Given the description of an element on the screen output the (x, y) to click on. 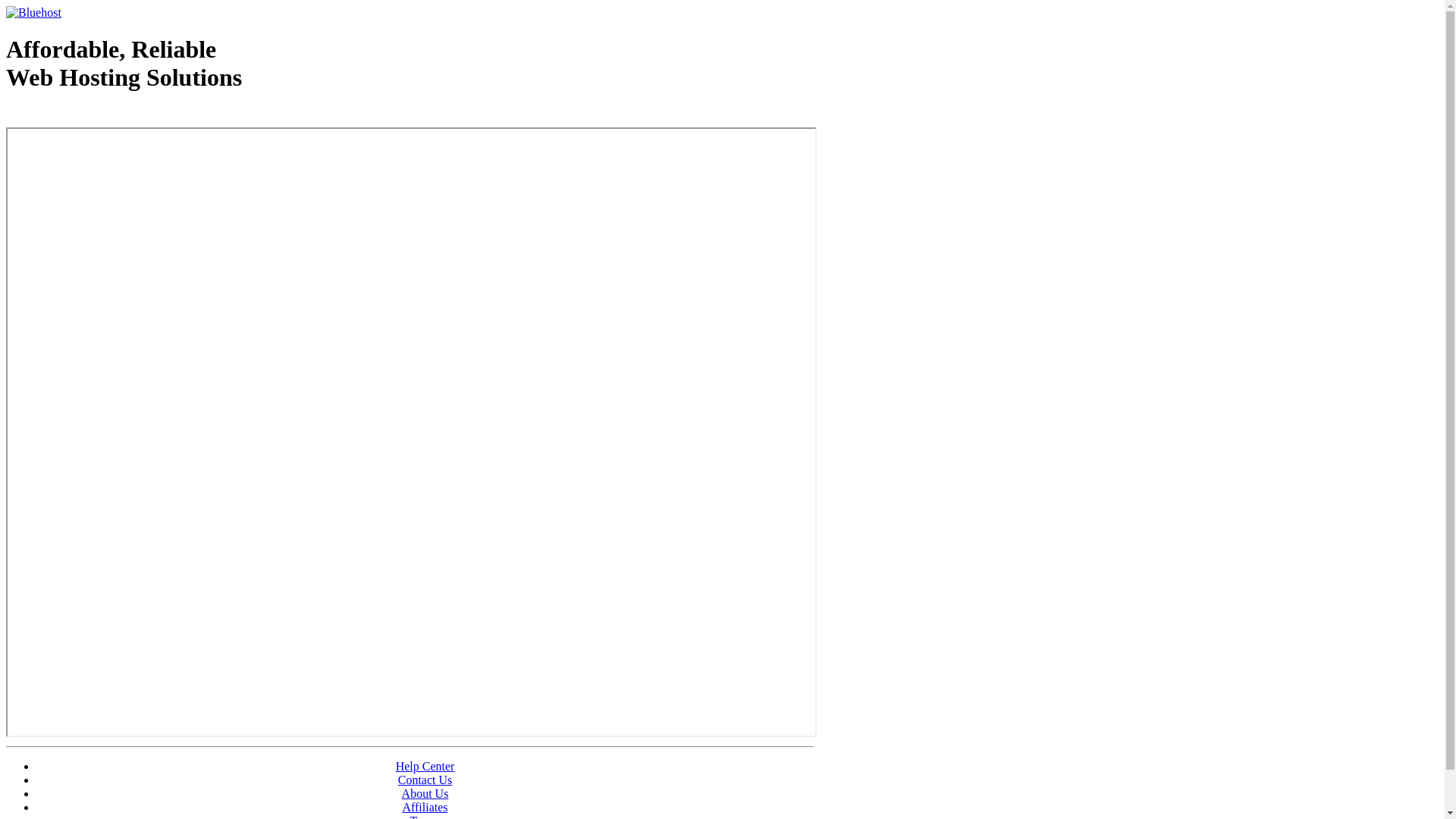
Help Center Element type: text (425, 765)
Affiliates Element type: text (424, 806)
Web Hosting - courtesy of www.bluehost.com Element type: text (94, 115)
About Us Element type: text (424, 793)
Contact Us Element type: text (425, 779)
